Given the description of an element on the screen output the (x, y) to click on. 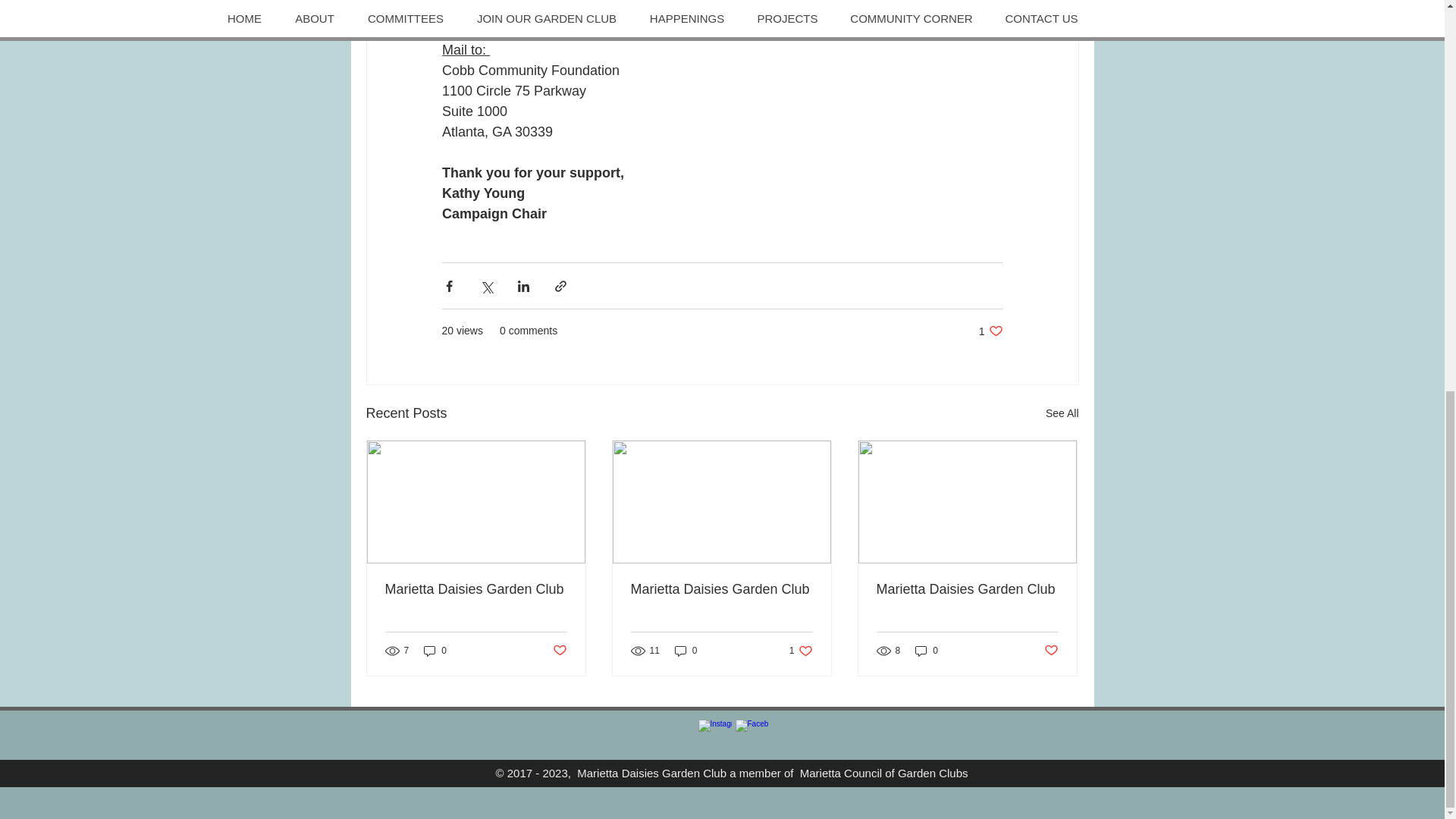
See All (1061, 413)
